Given the description of an element on the screen output the (x, y) to click on. 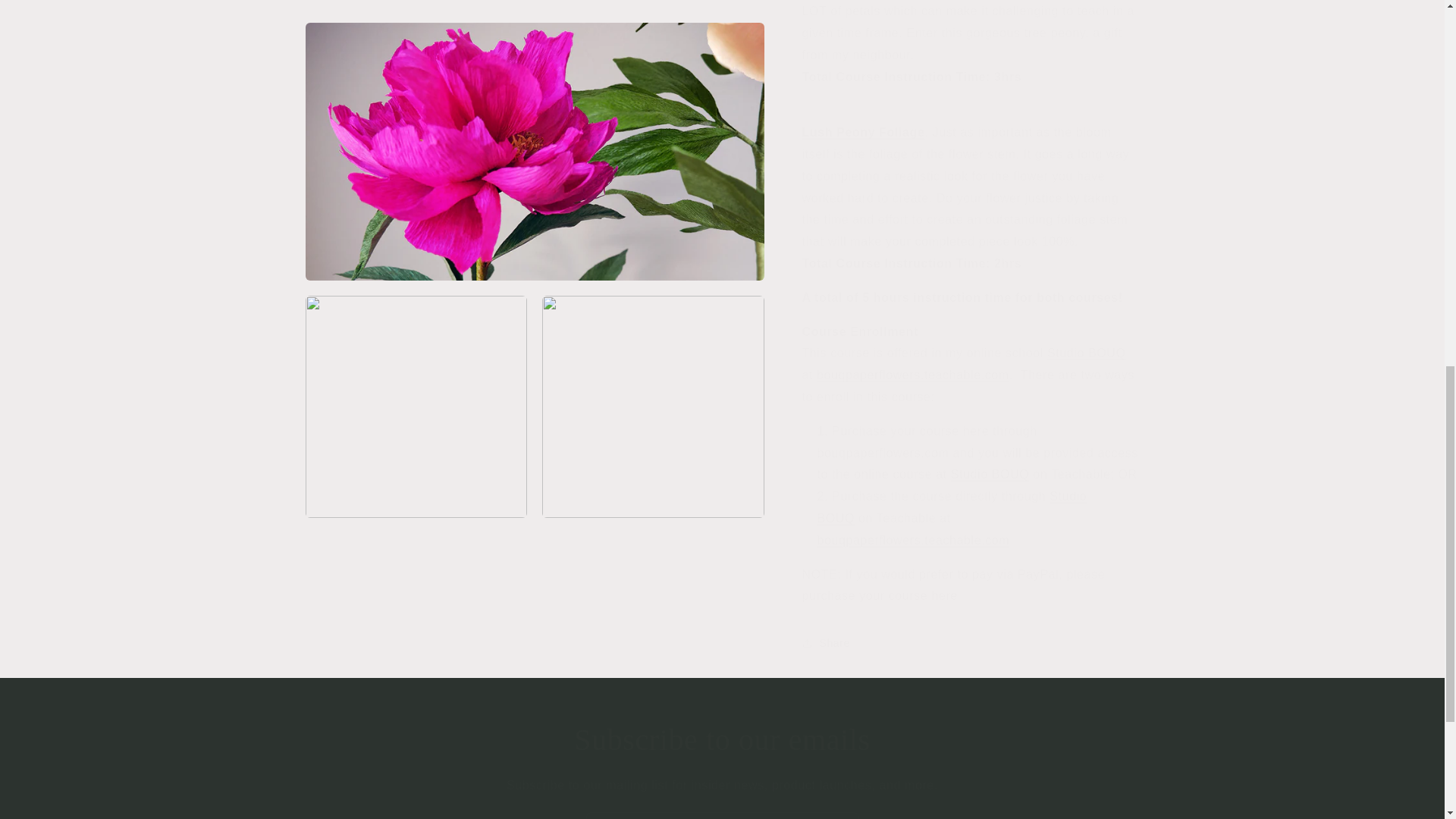
Subscribe to our emails (721, 740)
Email (722, 815)
Studio BOUQ (951, 495)
Studio BOUQ (989, 462)
bouqpaperflowers.teachable.com (912, 363)
bouqpaperflowers.teachable.com (913, 528)
Studio BOUQ (1085, 341)
